Given the description of an element on the screen output the (x, y) to click on. 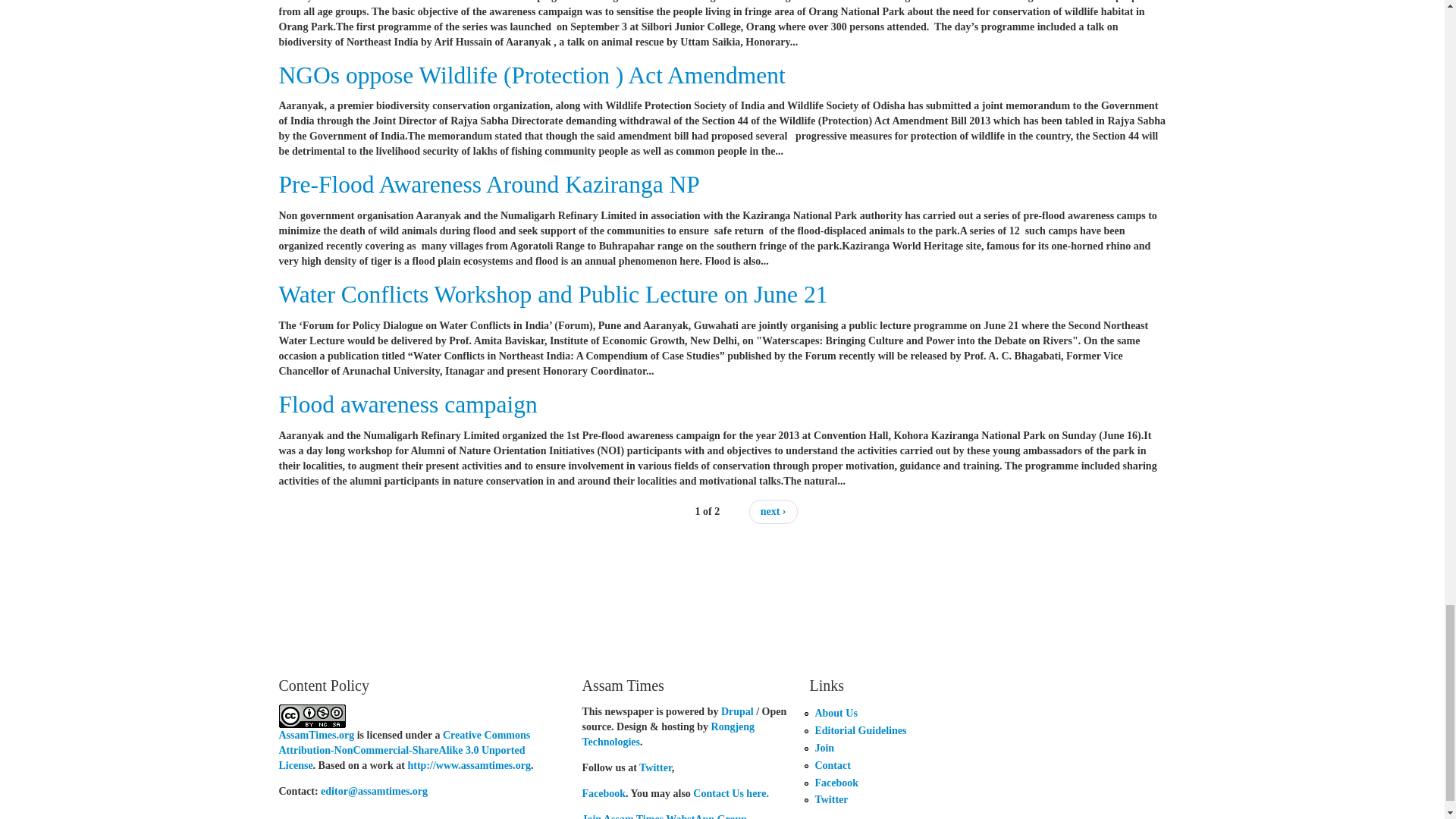
Pre-Flood Awareness Around Kaziranga NP (489, 184)
AssamTimes.org (317, 735)
Flood awareness campaign (408, 404)
Go to next page (773, 511)
Water Conflicts Workshop and Public Lecture on June 21 (553, 294)
